Given the description of an element on the screen output the (x, y) to click on. 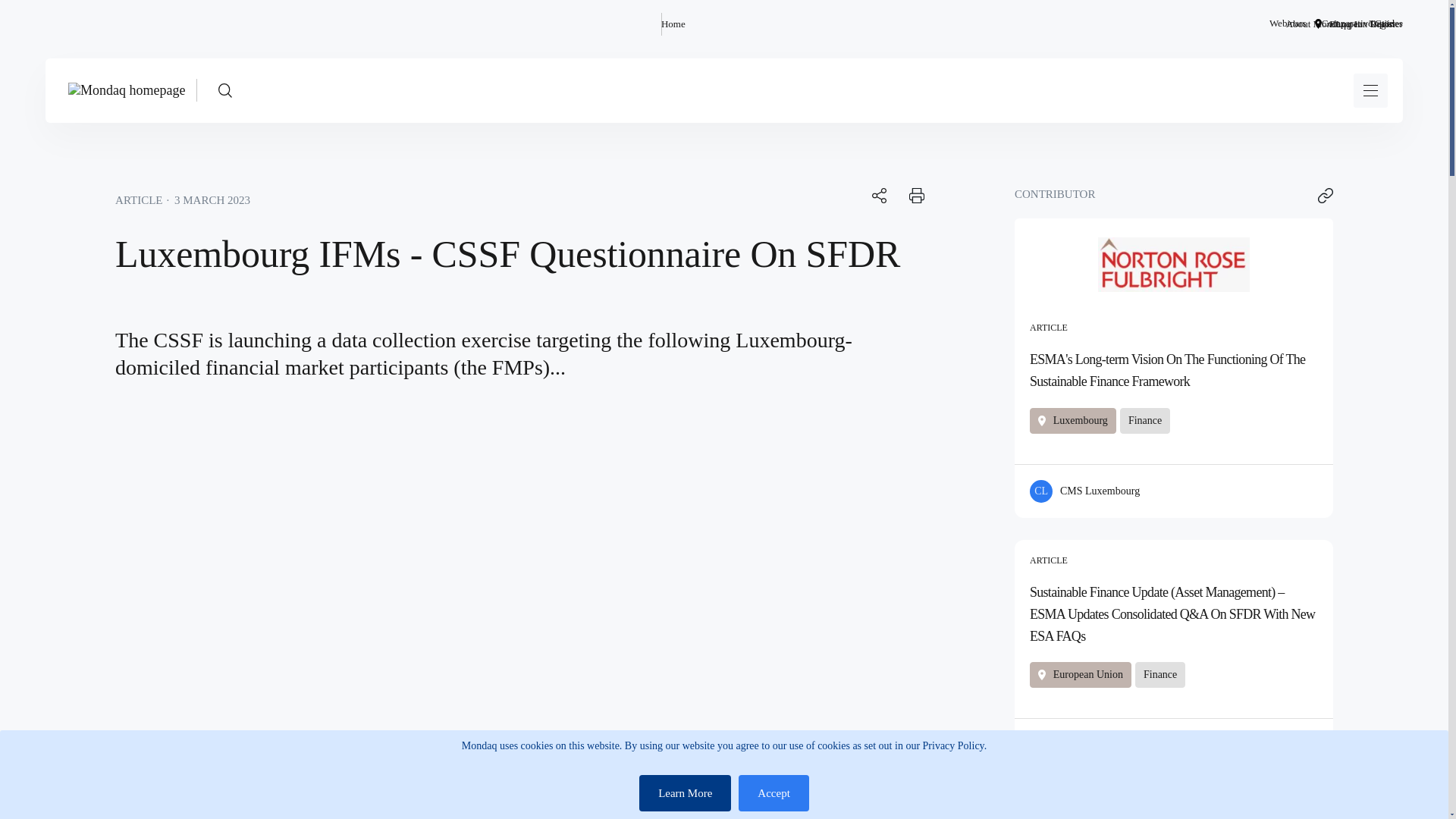
Home (673, 24)
Comparative Guides (1362, 23)
About Mondaq (1315, 24)
Webinars (1287, 23)
